Given the description of an element on the screen output the (x, y) to click on. 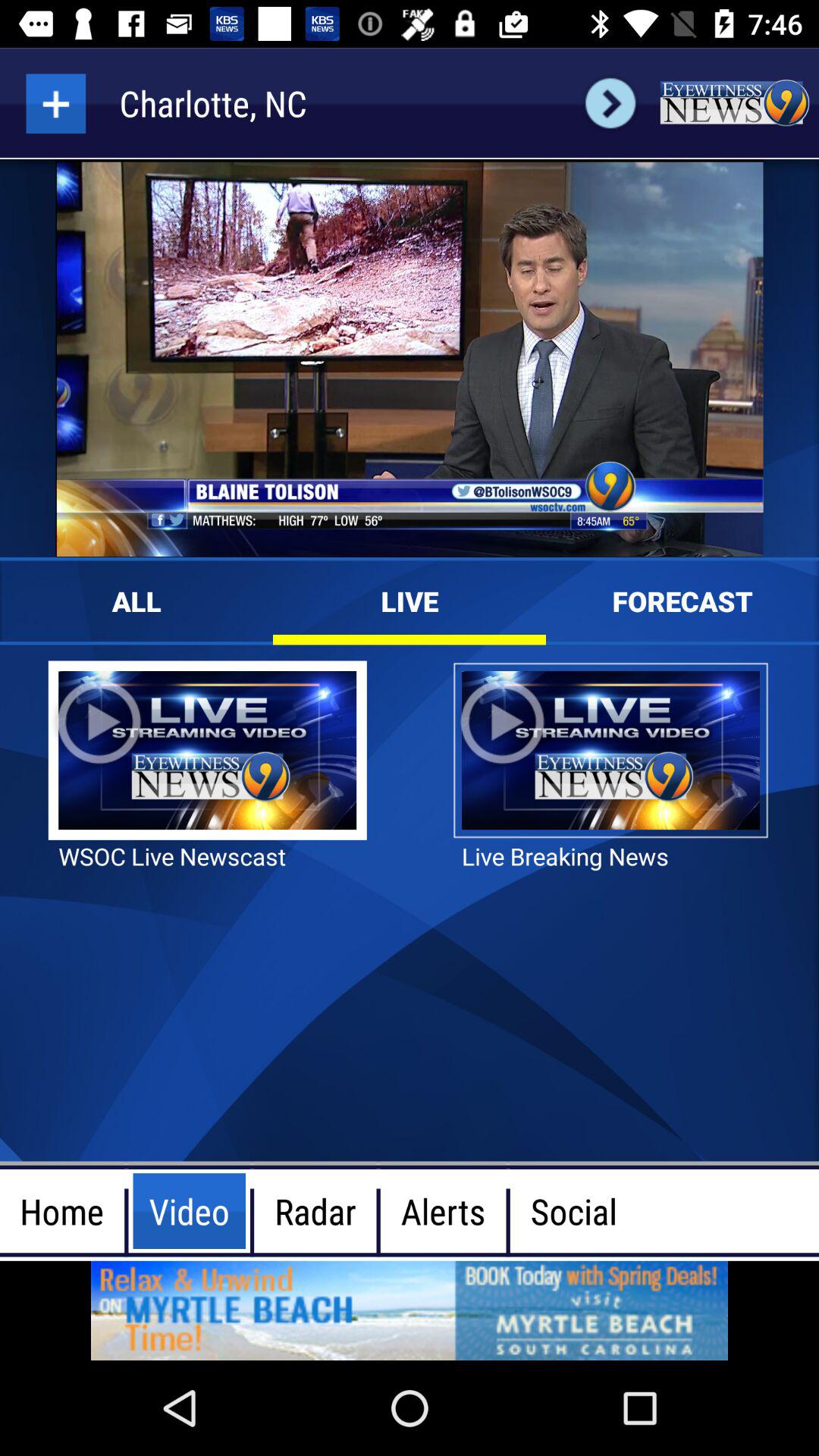
select advertisement (409, 1310)
